Given the description of an element on the screen output the (x, y) to click on. 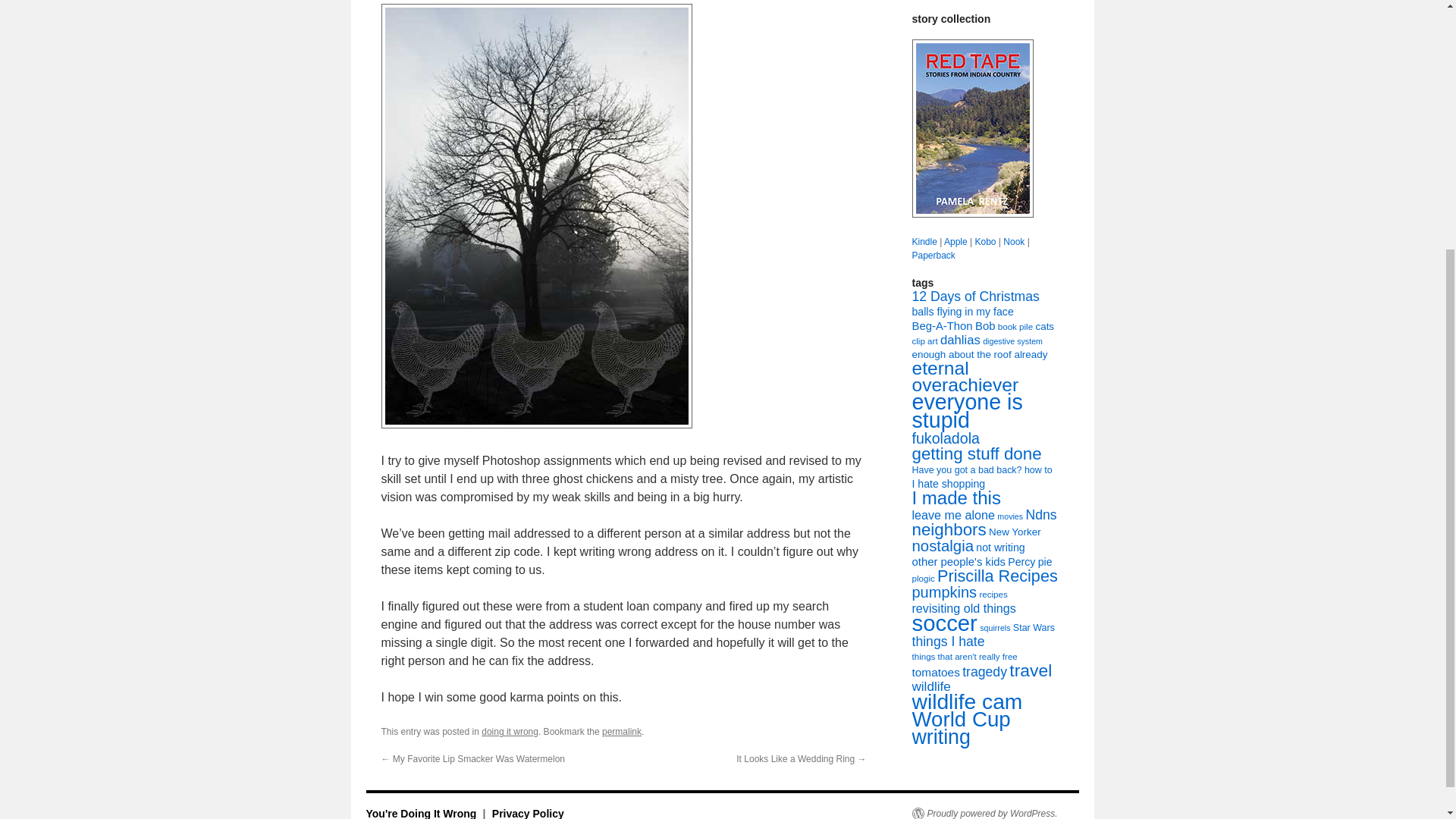
Kobo (984, 241)
cats (1044, 326)
Paperback (933, 255)
dahlias (959, 339)
fukoladola (944, 437)
Nook (1014, 241)
eternal overachiever (964, 375)
Apple (955, 241)
digestive system (1012, 340)
everyone is stupid (966, 410)
